Given the description of an element on the screen output the (x, y) to click on. 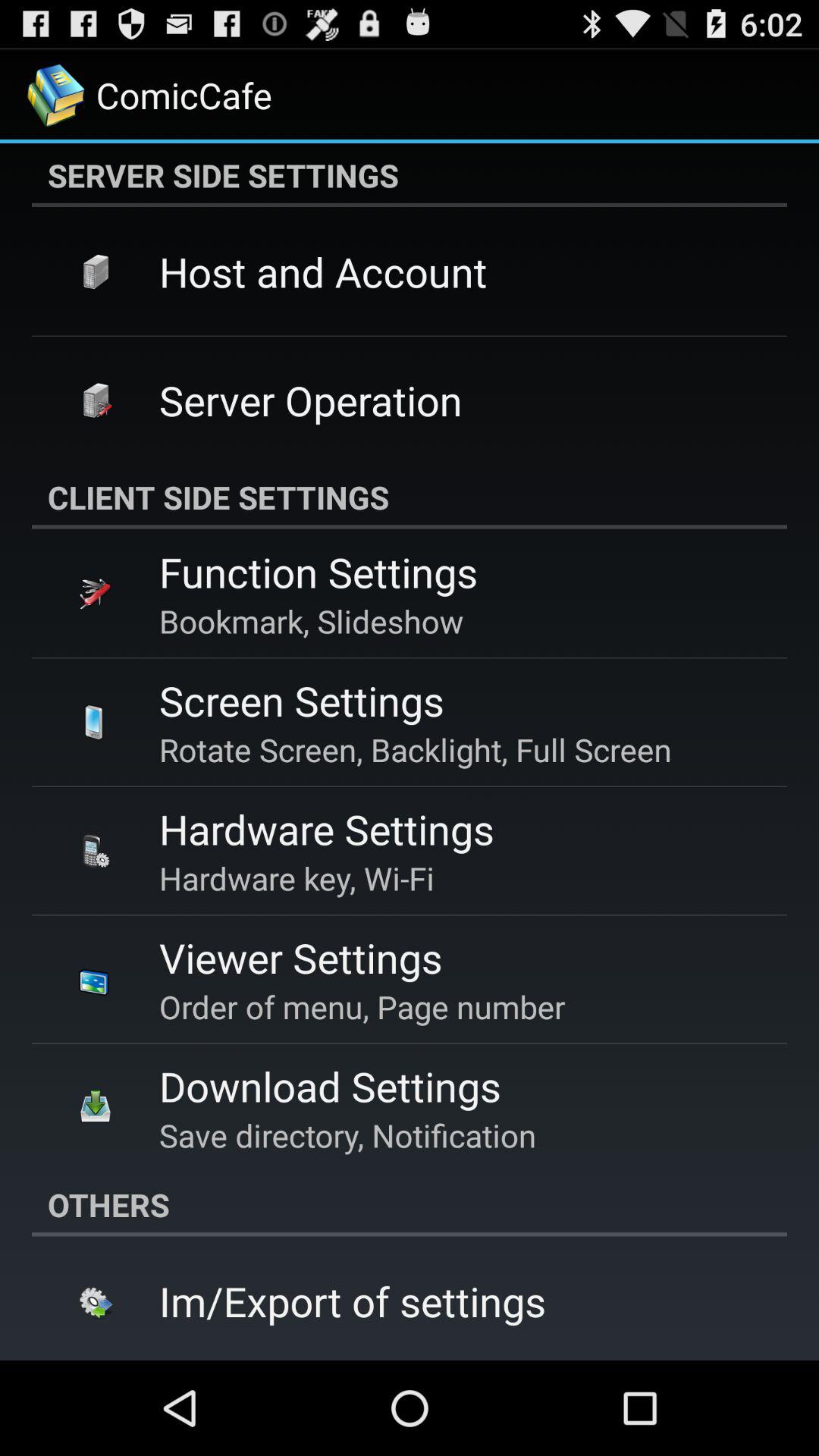
click the host and account (323, 271)
